Given the description of an element on the screen output the (x, y) to click on. 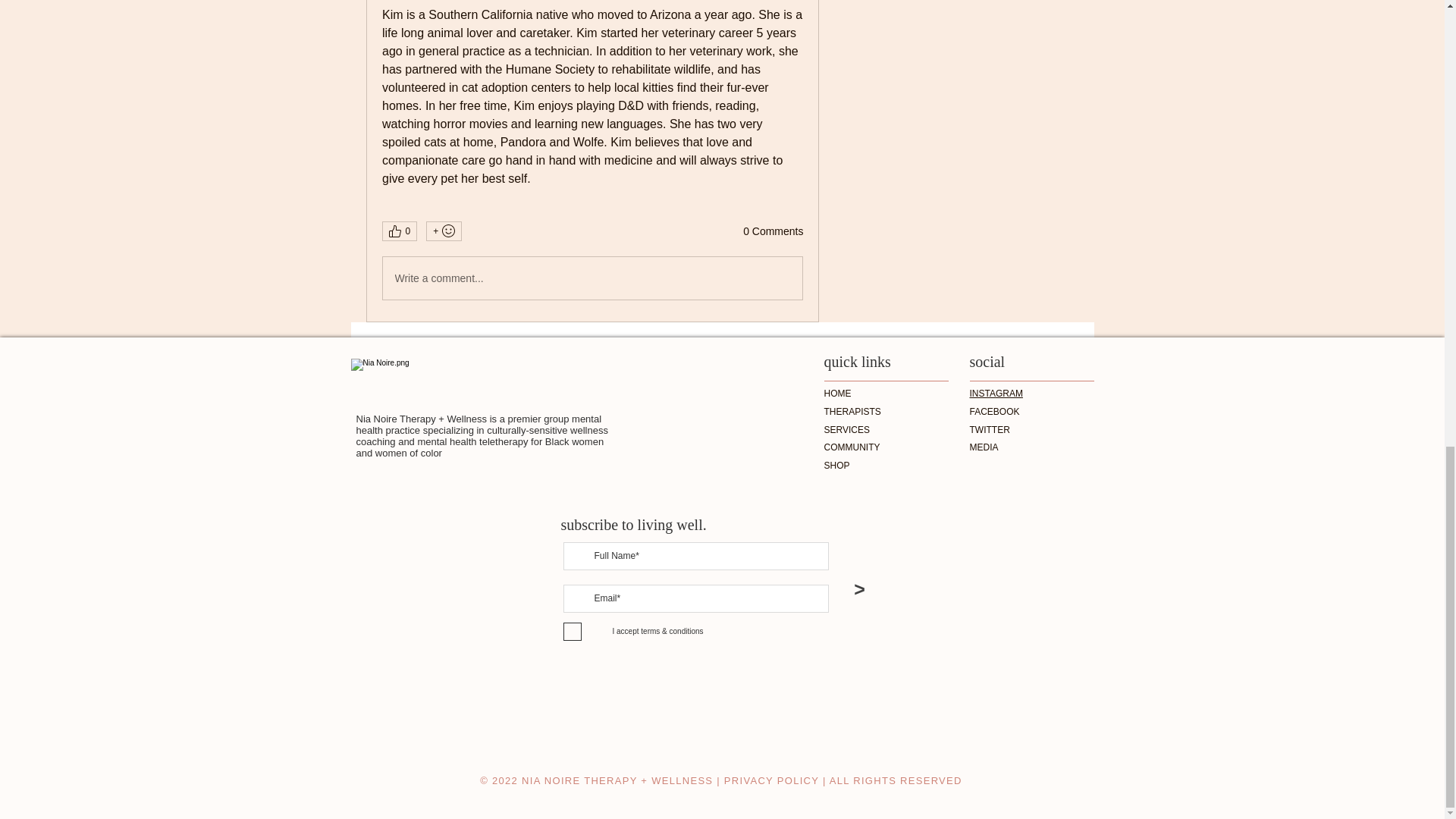
INSTAGRAM (995, 393)
TWITTER (989, 429)
COMMUNITY (851, 447)
0 Comments (772, 231)
FACEBOOK (994, 411)
Write a comment... (591, 278)
THERAPISTS (852, 411)
MEDIA (983, 447)
SERVICES (846, 429)
HOME (837, 393)
SHOP (836, 465)
